Given the description of an element on the screen output the (x, y) to click on. 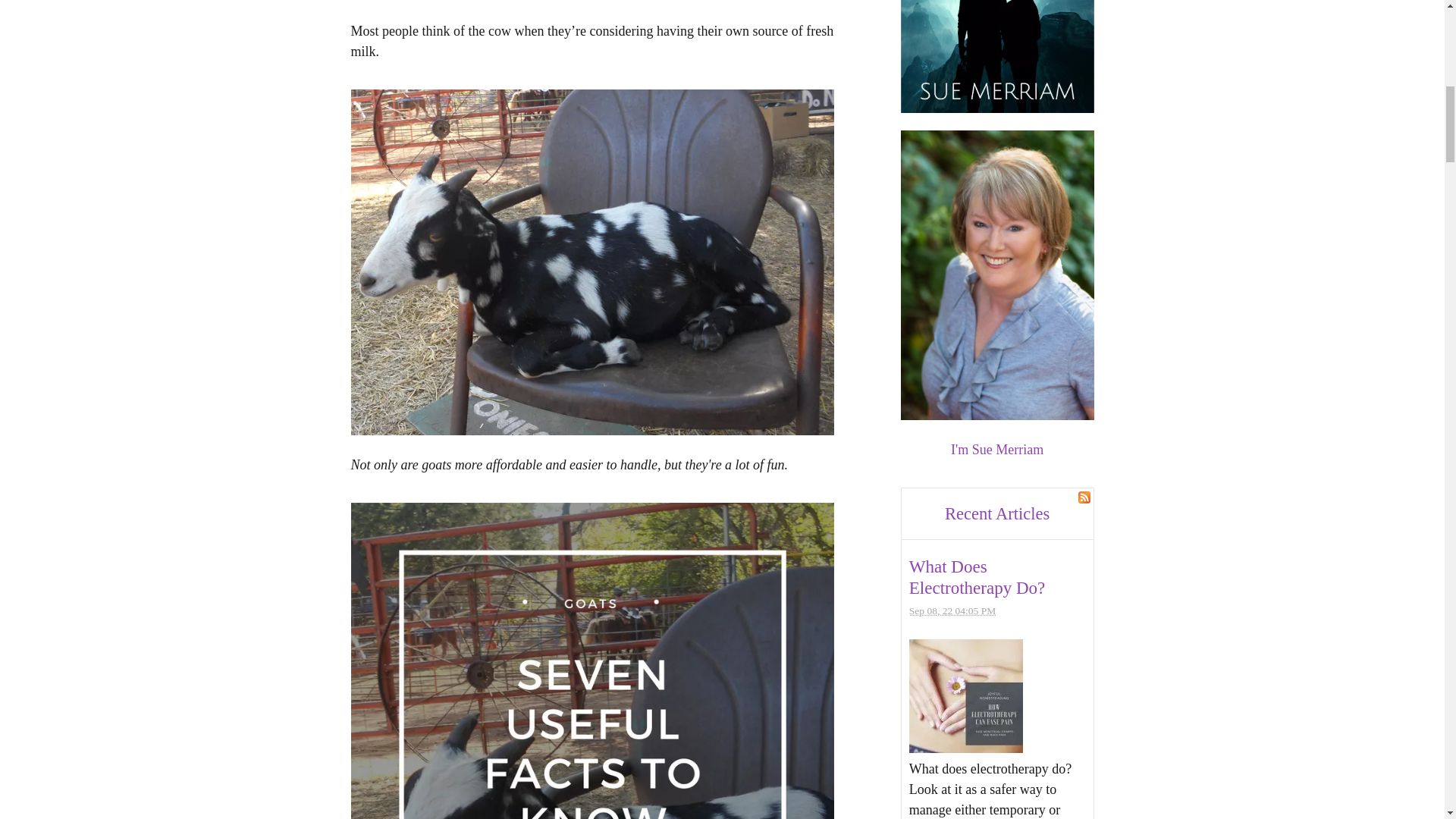
2022-09-08T16:05:17-0400 (951, 610)
Go to I'm Sue Merriam (997, 415)
